Given the description of an element on the screen output the (x, y) to click on. 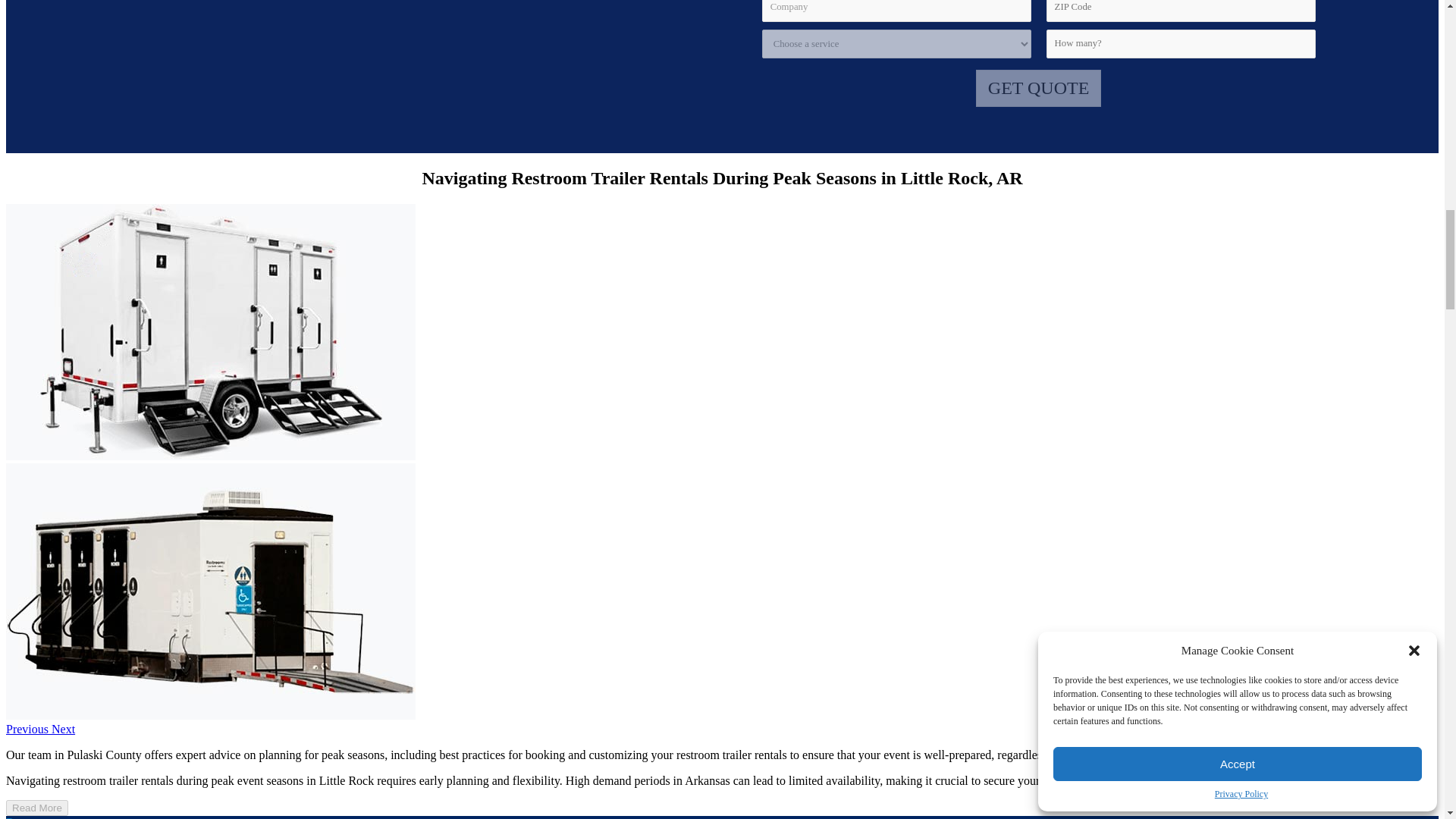
Next (62, 728)
Company (895, 11)
Read More (36, 807)
Read More (36, 807)
GET QUOTE (1038, 88)
Previous (27, 728)
